Given the description of an element on the screen output the (x, y) to click on. 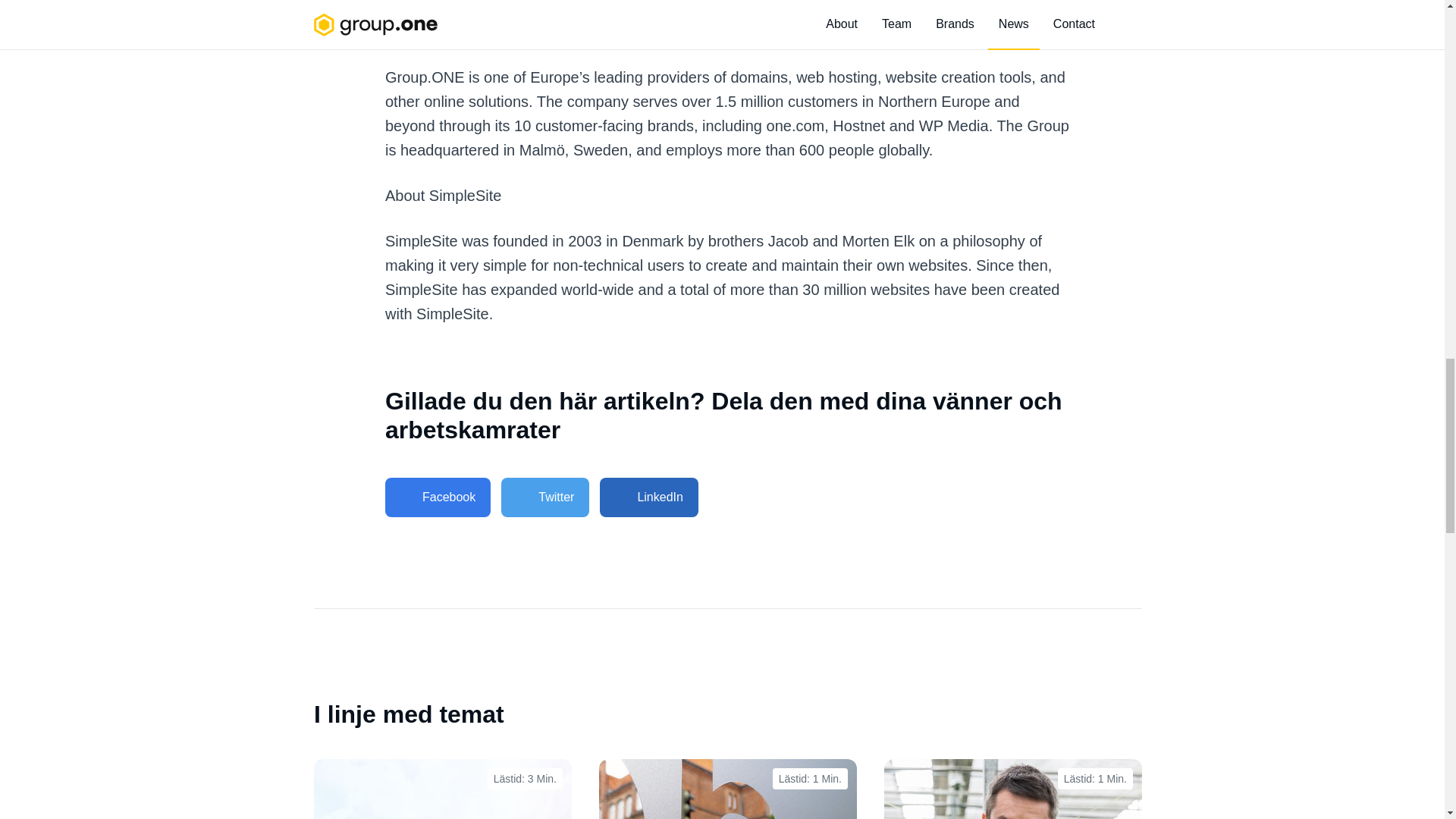
Twitter (544, 496)
LinkedIn (648, 496)
Facebook (437, 496)
